Given the description of an element on the screen output the (x, y) to click on. 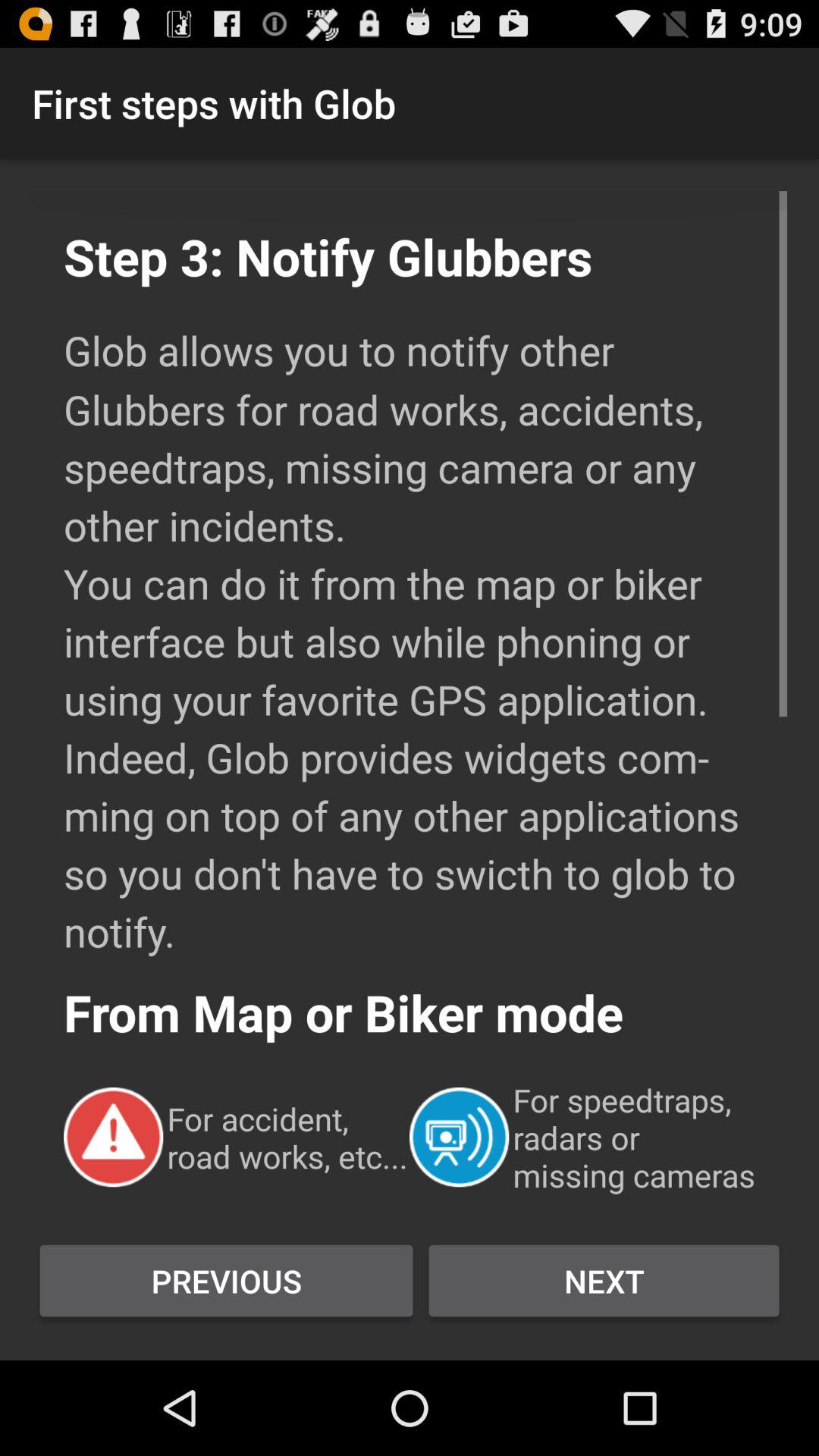
open the item below the for speedtraps radars item (603, 1280)
